Given the description of an element on the screen output the (x, y) to click on. 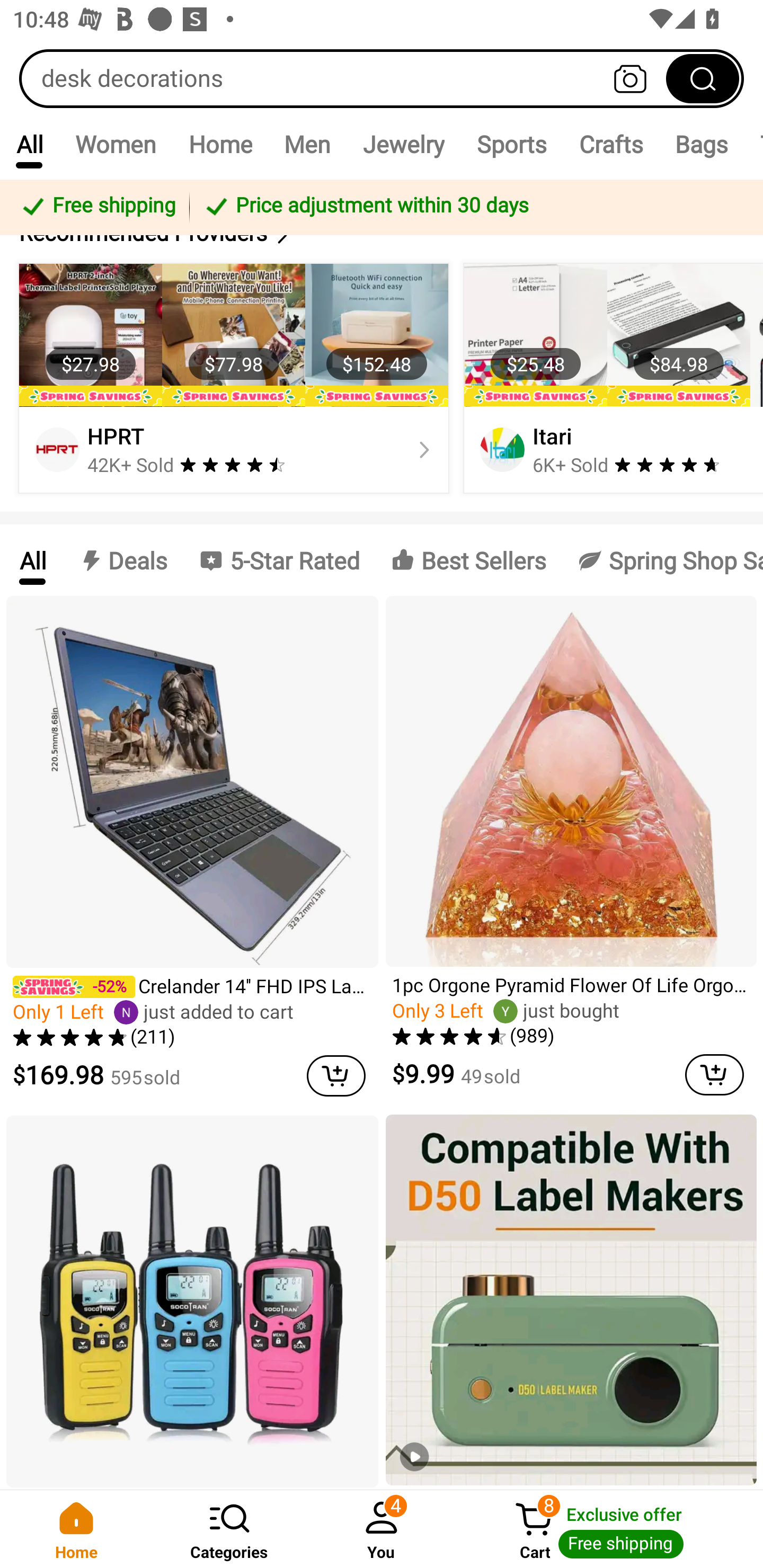
desk decorations (381, 78)
All (29, 144)
Women (115, 144)
Home (219, 144)
Men (306, 144)
Jewelry (403, 144)
Sports (511, 144)
Crafts (611, 144)
Bags (701, 144)
Free shipping (97, 206)
Price adjustment within 30 days (472, 206)
$27.98 $77.98 $152.48 HPRT 42K+ Sold (233, 377)
$25.48 $84.98 Itari 6K+ Sold (610, 377)
All (32, 559)
Deals Deals Deals (122, 559)
5-Star Rated 5-Star Rated 5-Star Rated (279, 559)
Best Sellers Best Sellers Best Sellers (468, 559)
Spring Shop Save Spring Shop Save Spring Shop Save (662, 559)
cart delete (714, 1074)
cart delete (335, 1075)
Home (76, 1528)
Categories (228, 1528)
You 4 You (381, 1528)
Cart 8 Cart Exclusive offer (610, 1528)
